Given the description of an element on the screen output the (x, y) to click on. 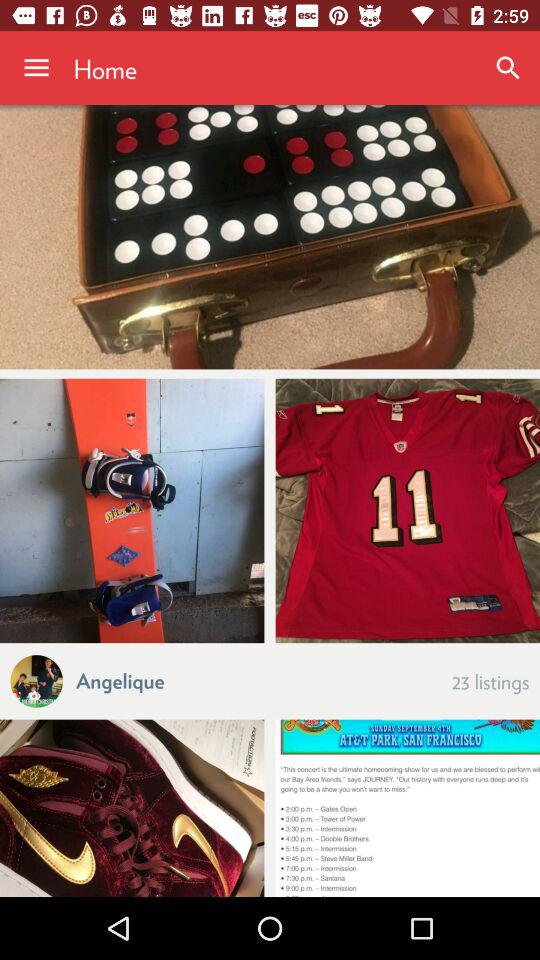
tap the icon next to the a icon (120, 679)
